Given the description of an element on the screen output the (x, y) to click on. 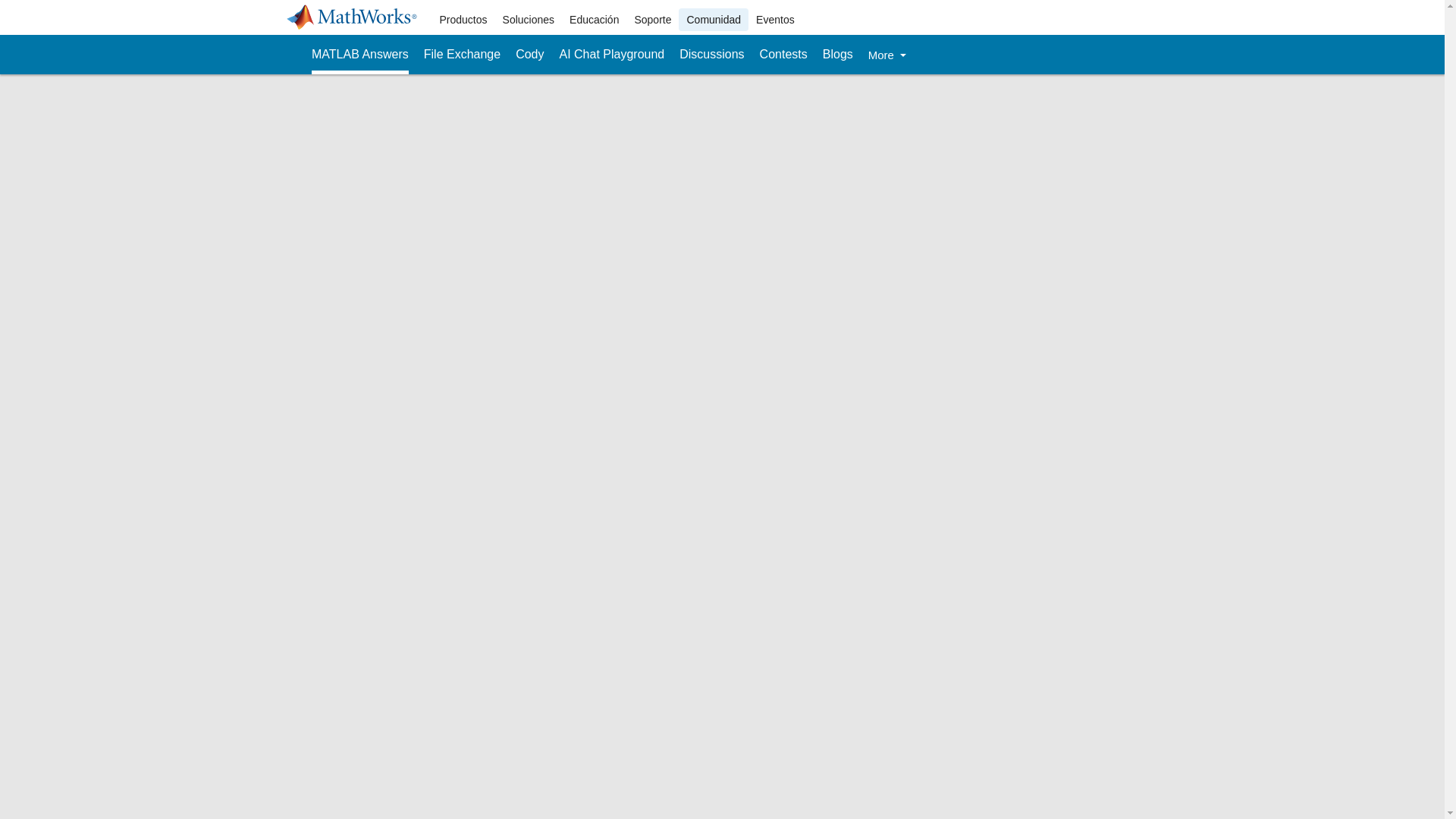
MATLAB Answers (360, 54)
Blogs (837, 54)
More (886, 54)
Soluciones (528, 19)
Eventos (775, 19)
Discussions (711, 54)
Productos (463, 19)
File Exchange (461, 54)
Cody (529, 54)
Comunidad (713, 19)
Soporte (652, 19)
Contests (784, 54)
AI Chat Playground (612, 54)
